Given the description of an element on the screen output the (x, y) to click on. 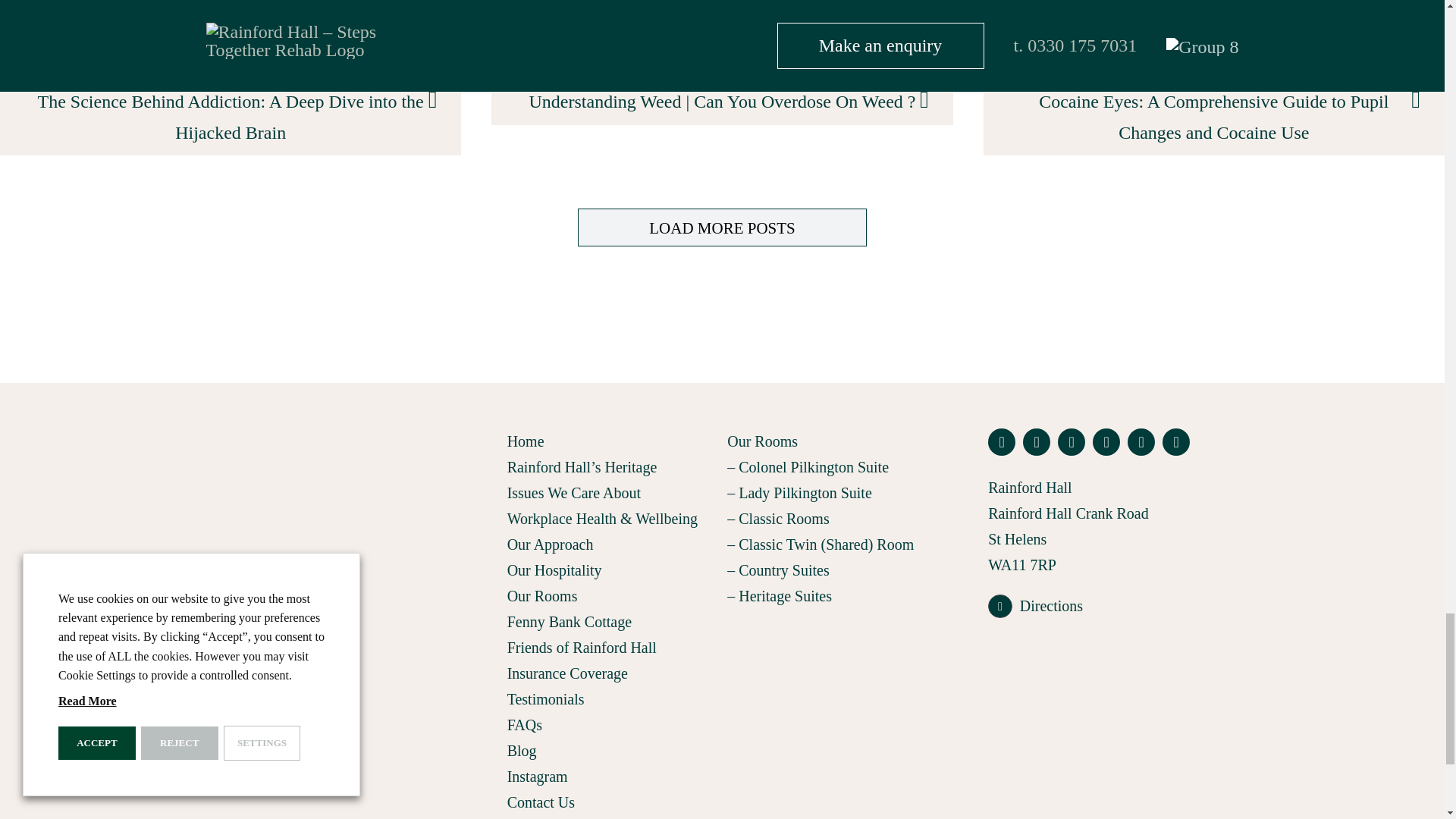
LOAD MORE POSTS (722, 227)
cqc (1101, 702)
Downpic.cc-1171012447 (722, 39)
Insurance Coverage (611, 673)
Testimonials (611, 698)
Contact Us (611, 801)
Our Approach (611, 544)
Issues We Care About (611, 492)
Blog (611, 750)
Home (611, 441)
Our Rooms (611, 596)
Fenny Bank Cottage (611, 621)
Downpic.cc-1219009467 (230, 39)
Our Hospitality (611, 570)
Instagram (611, 776)
